Given the description of an element on the screen output the (x, y) to click on. 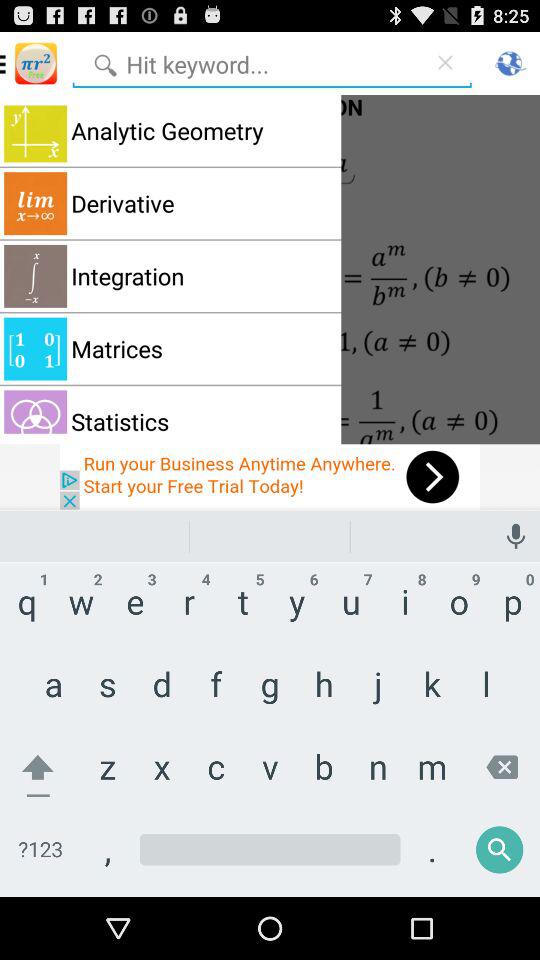
type in text (270, 864)
